Given the description of an element on the screen output the (x, y) to click on. 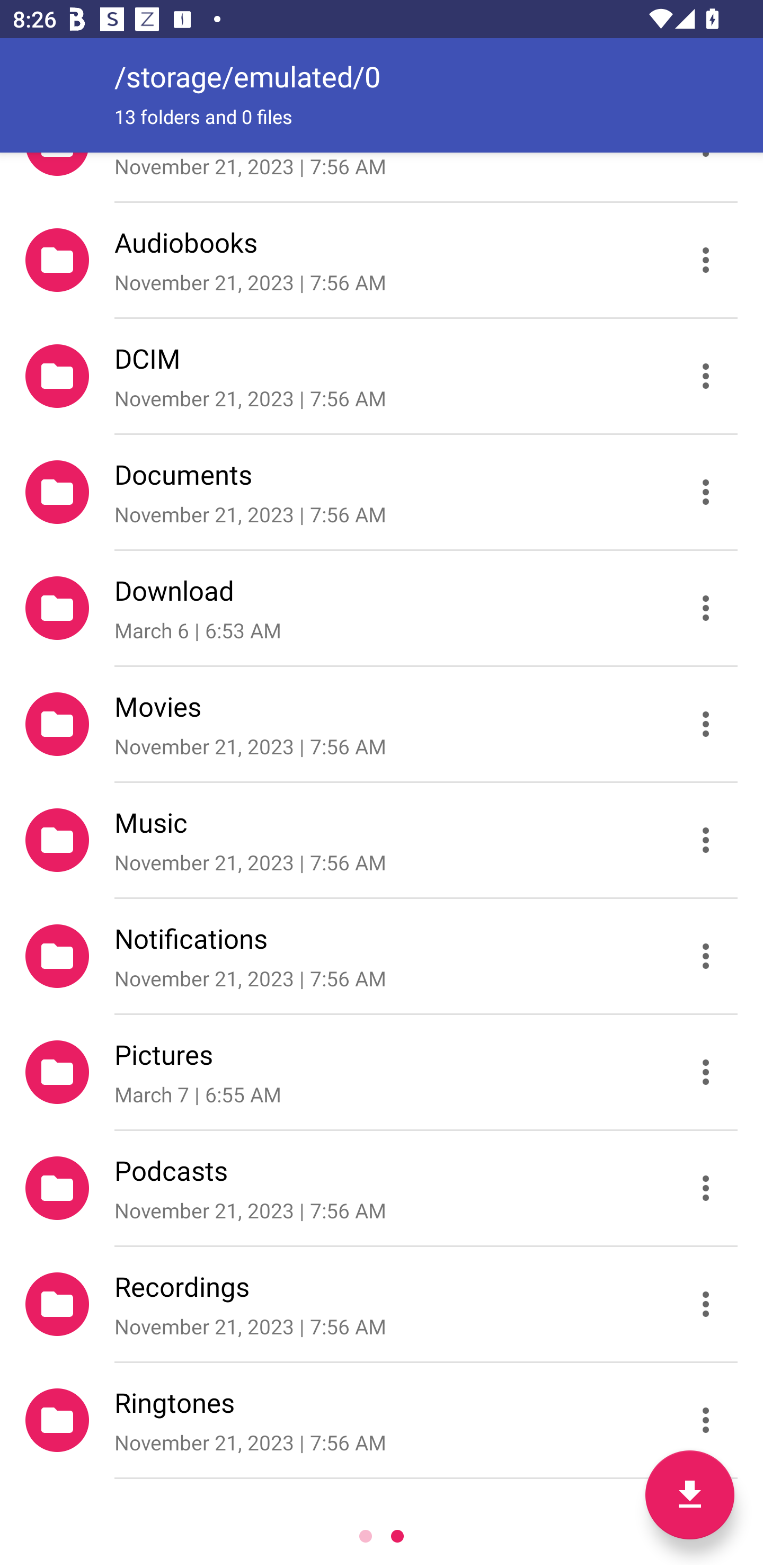
Audiobooks November 21, 2023 | 7:56 AM (381, 259)
DCIM November 21, 2023 | 7:56 AM (381, 375)
Documents November 21, 2023 | 7:56 AM (381, 491)
Download March 6 | 6:53 AM (381, 607)
Movies November 21, 2023 | 7:56 AM (381, 723)
Music November 21, 2023 | 7:56 AM (381, 839)
Notifications November 21, 2023 | 7:56 AM (381, 955)
Pictures March 7 | 6:55 AM (381, 1071)
Podcasts November 21, 2023 | 7:56 AM (381, 1187)
Recordings November 21, 2023 | 7:56 AM (381, 1303)
Ringtones November 21, 2023 | 7:56 AM (381, 1419)
